Given the description of an element on the screen output the (x, y) to click on. 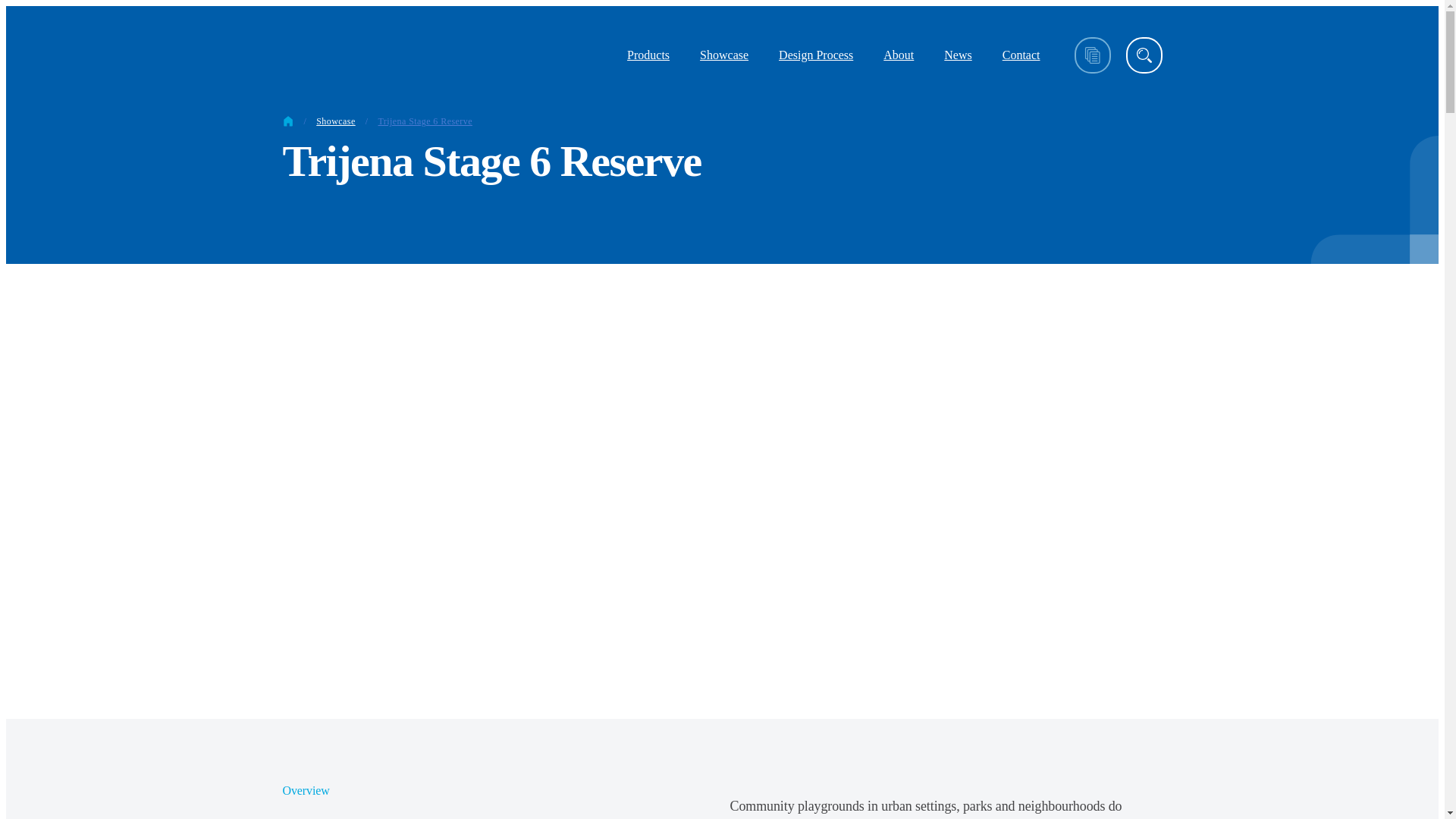
About (897, 55)
Showcase (723, 55)
Design Process (814, 55)
Products (647, 55)
